Given the description of an element on the screen output the (x, y) to click on. 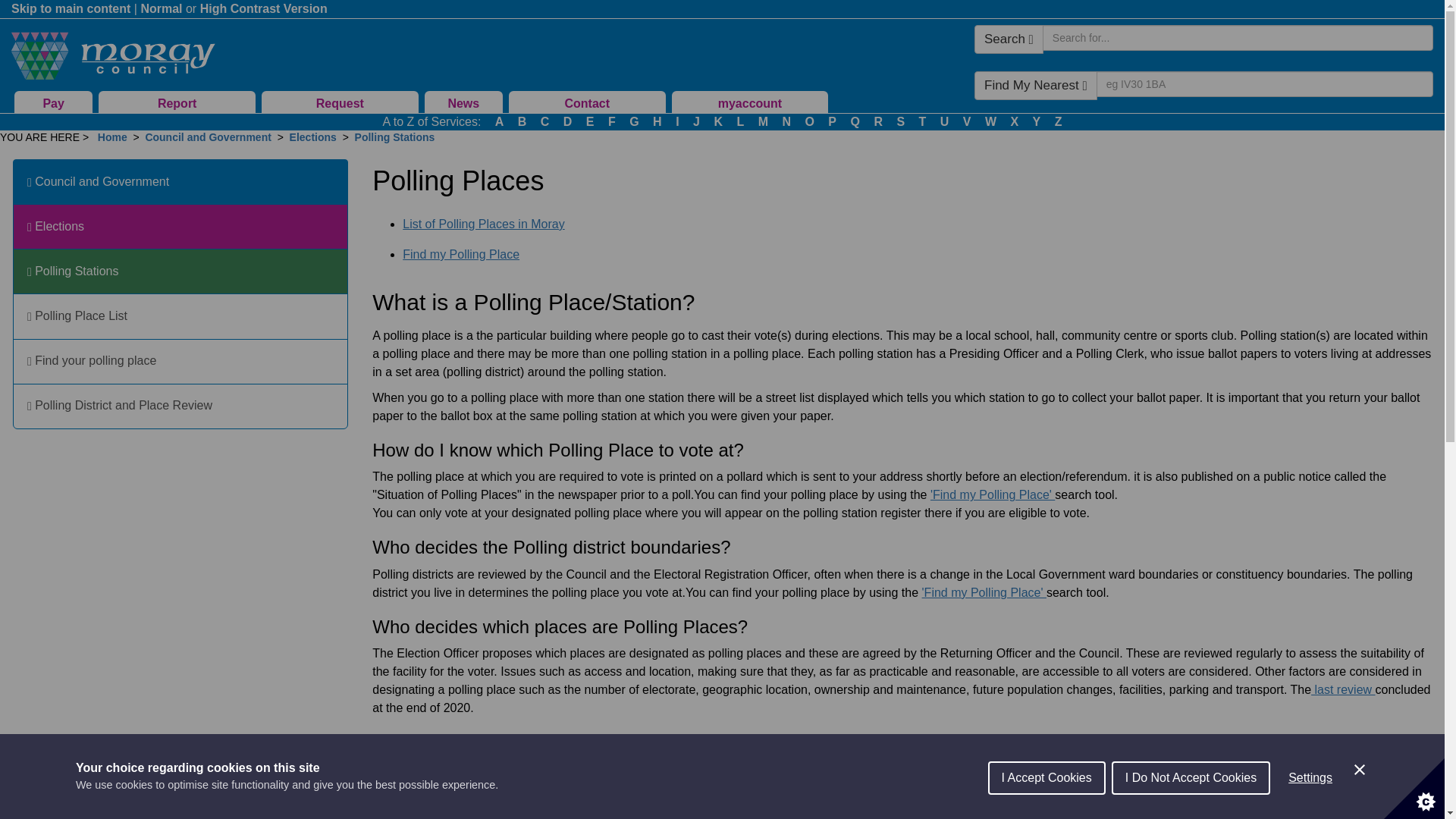
Link to homepage (111, 56)
Contact (586, 101)
Request (340, 101)
News (463, 101)
Change site to default layout (160, 8)
Pay (53, 101)
Normal (160, 8)
High Contrast Version (263, 8)
Settings (1309, 812)
Report (177, 101)
Search (1008, 39)
Find My Nearest (1035, 85)
Skip to main content (71, 8)
myaccount (749, 101)
Go to main content on page (71, 8)
